Given the description of an element on the screen output the (x, y) to click on. 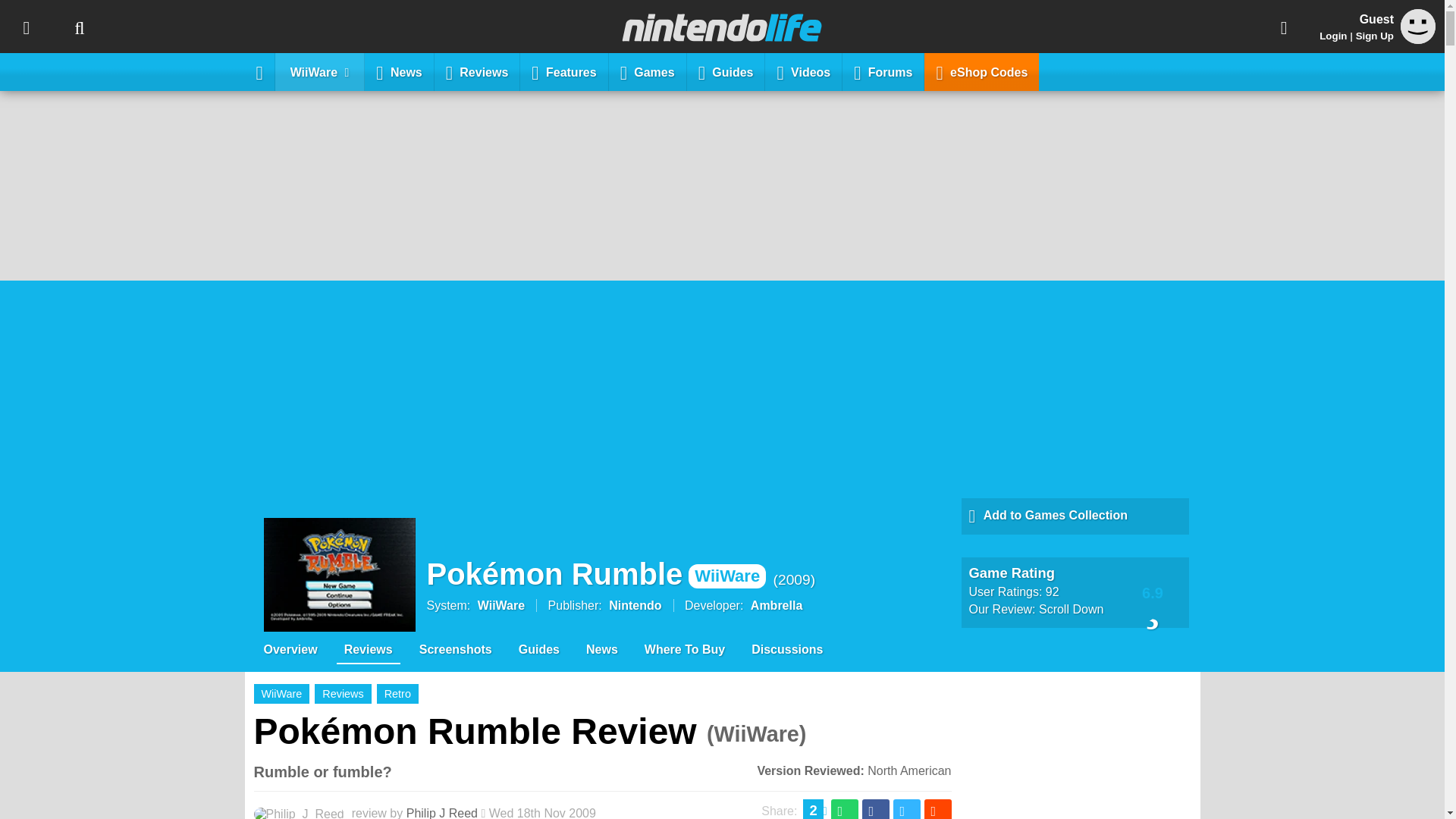
The average score from our readers is 6.88 (1152, 591)
Nintendo Life (721, 27)
Guest (1417, 26)
Videos (804, 71)
Guides (726, 71)
Reviews (477, 71)
Nintendo Life (721, 27)
Search (79, 26)
Topics (26, 26)
Games (647, 71)
